Given the description of an element on the screen output the (x, y) to click on. 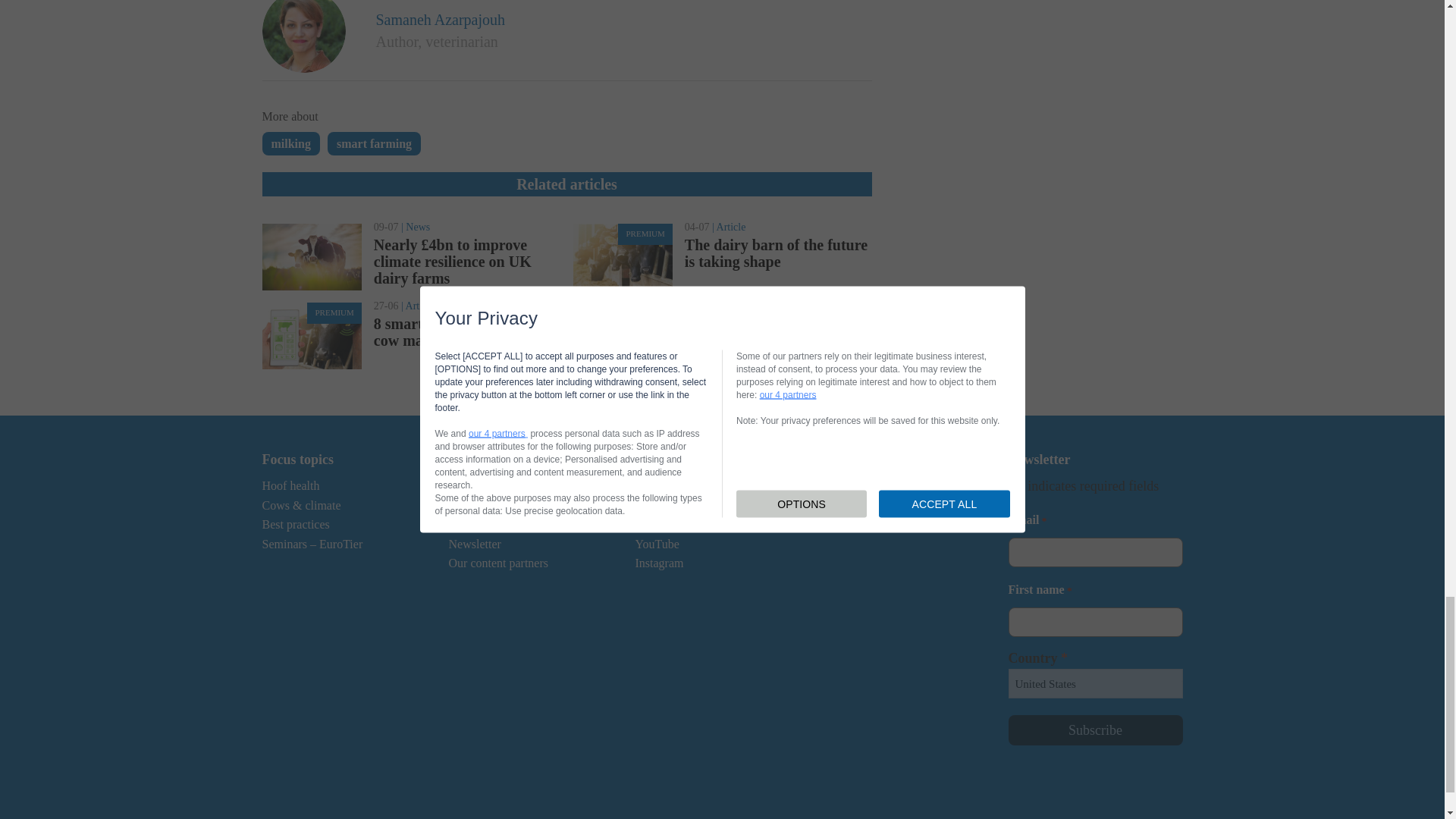
Subscribe (1095, 729)
